Given the description of an element on the screen output the (x, y) to click on. 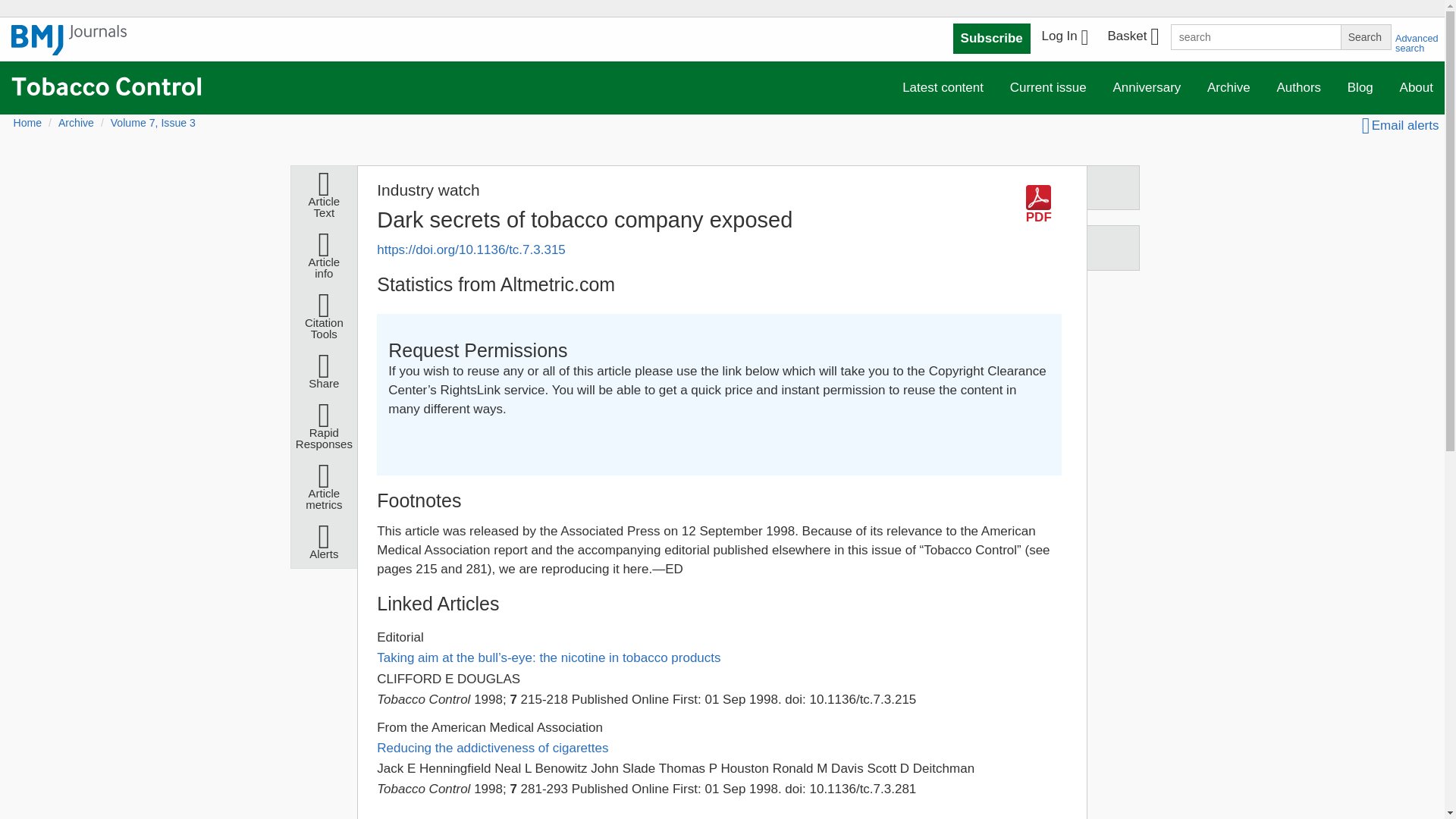
Log In (1064, 38)
Search (1364, 36)
Current issue (1047, 87)
Subscribe (991, 38)
Search (1364, 36)
Latest content (942, 87)
Advanced search (1416, 43)
BMJ Journals (68, 40)
Blog (1360, 87)
Basket (1132, 38)
Archive (1228, 87)
BMJ Journals (68, 47)
Authors (1298, 87)
Anniversary (1147, 87)
